Given the description of an element on the screen output the (x, y) to click on. 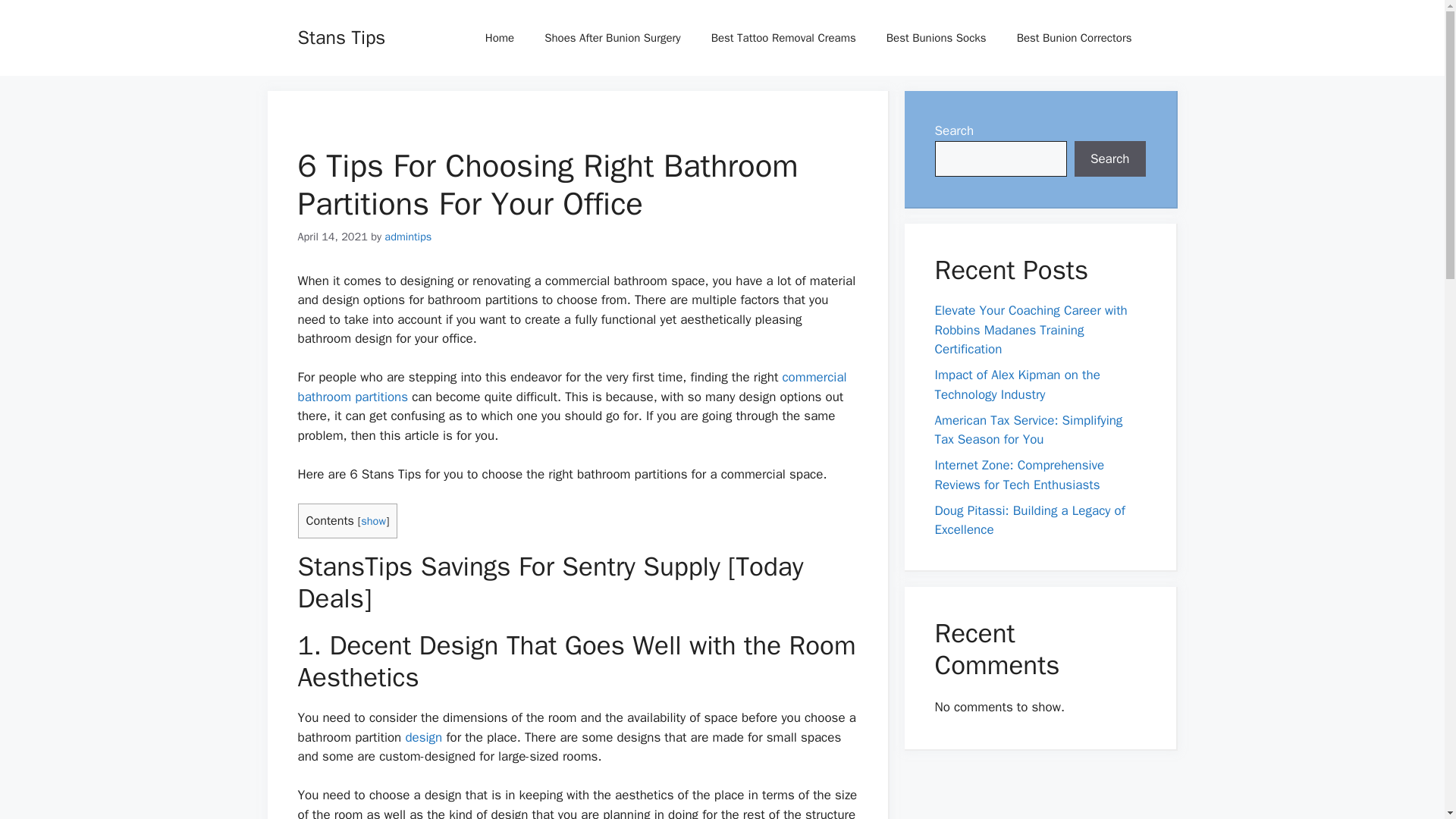
Best Bunions Socks (935, 37)
Impact of Alex Kipman on the Technology Industry (1016, 384)
Home (499, 37)
Stans Tips (341, 37)
Shoes After Bunion Surgery (612, 37)
Best Bunion Correctors (1074, 37)
admintips (407, 236)
Internet Zone: Comprehensive Reviews for Tech Enthusiasts (1018, 475)
design (423, 737)
show (373, 520)
American Tax Service: Simplifying Tax Season for You (1028, 429)
commercial bathroom partitions (571, 386)
View all posts by admintips (407, 236)
Doug Pitassi: Building a Legacy of Excellence (1029, 519)
